Given the description of an element on the screen output the (x, y) to click on. 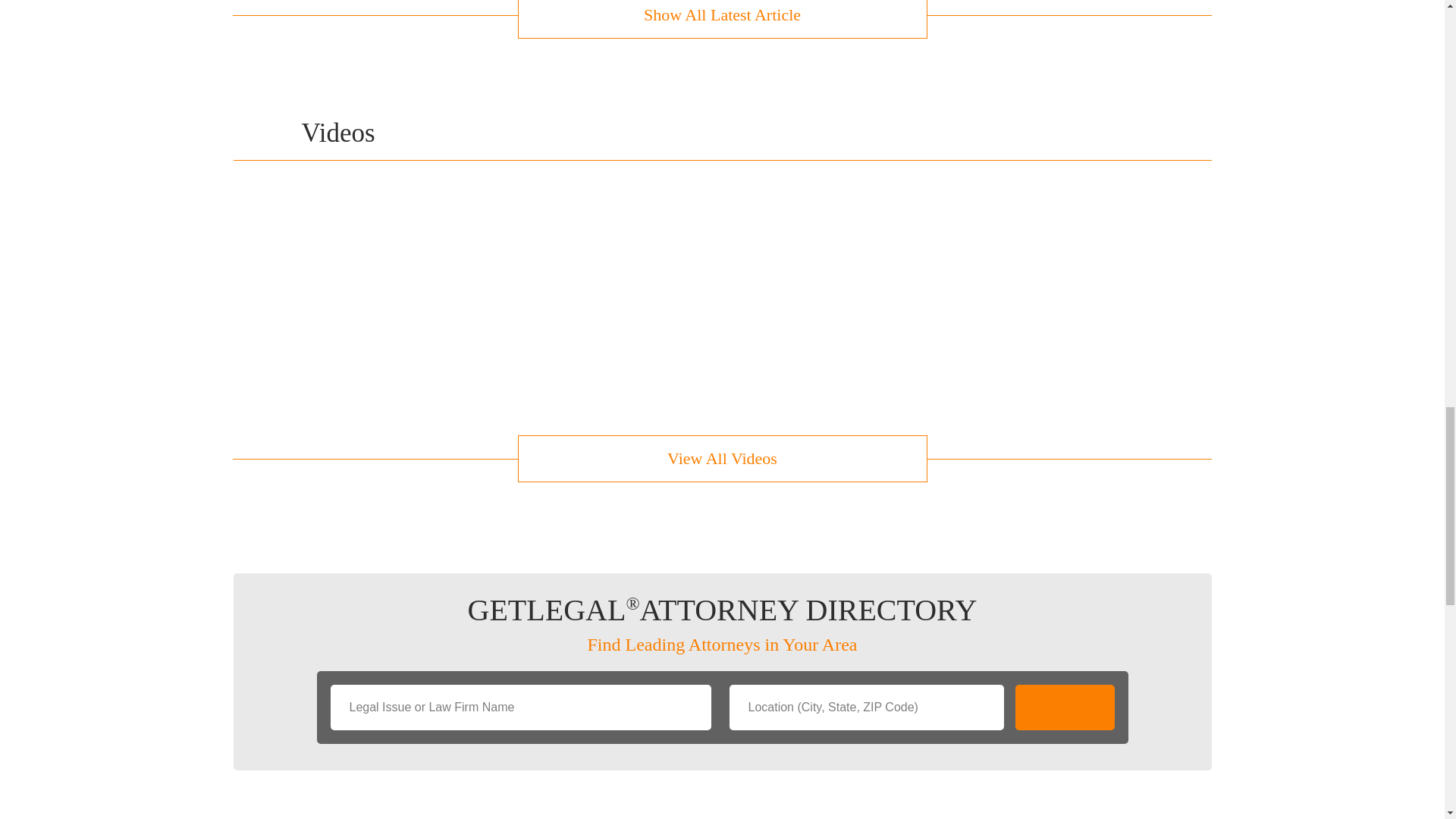
Search (1063, 707)
